Given the description of an element on the screen output the (x, y) to click on. 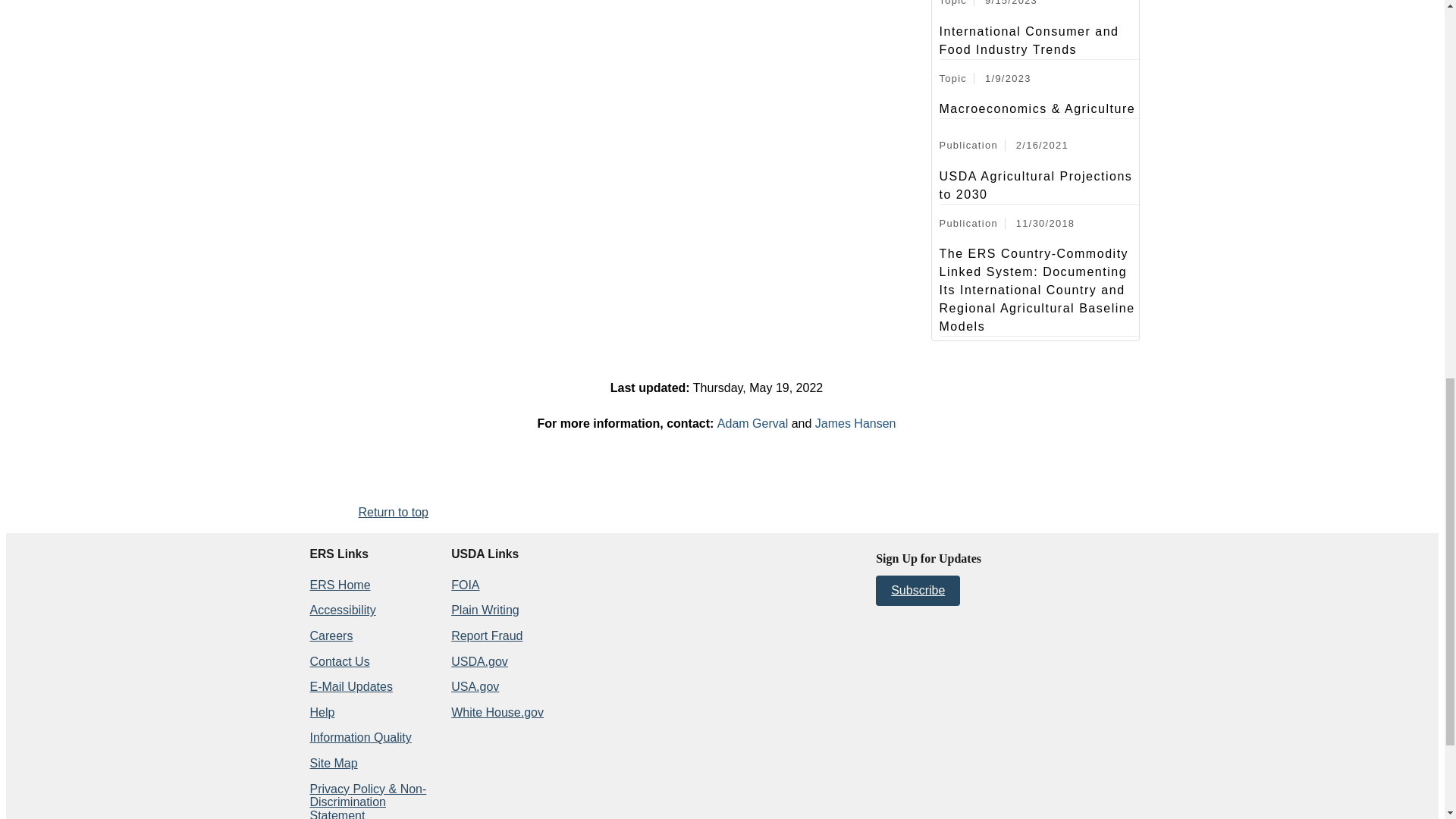
International Consumer and Food Industry Trends (1038, 40)
Return to top (393, 512)
Adam Gerval (752, 422)
ERS Home (338, 584)
James Hansen (855, 422)
USDA Agricultural Projections to 2030 (1038, 185)
